Given the description of an element on the screen output the (x, y) to click on. 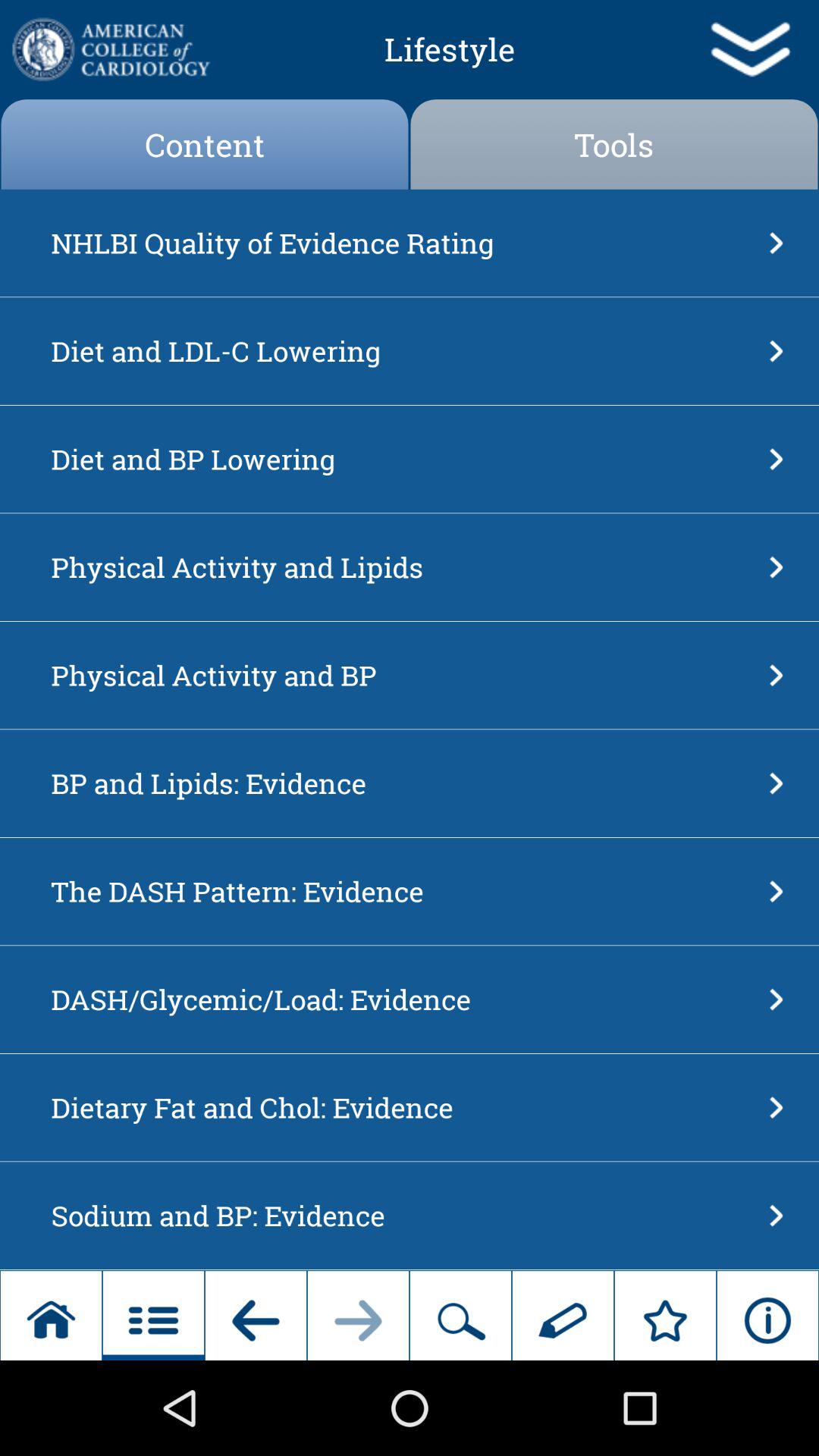
tap app to the right of the lifestyle item (749, 49)
